Given the description of an element on the screen output the (x, y) to click on. 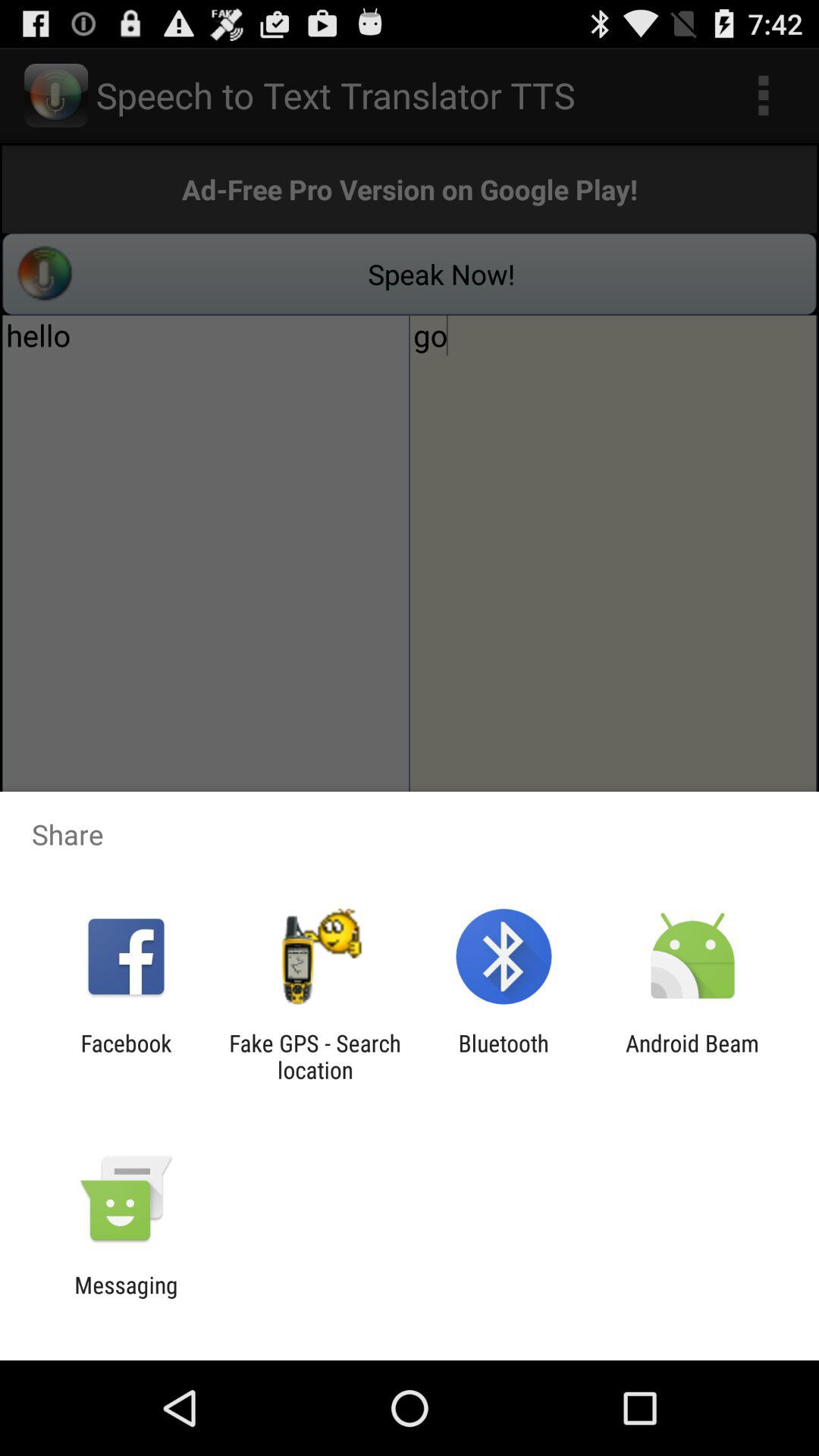
turn on android beam item (692, 1056)
